Given the description of an element on the screen output the (x, y) to click on. 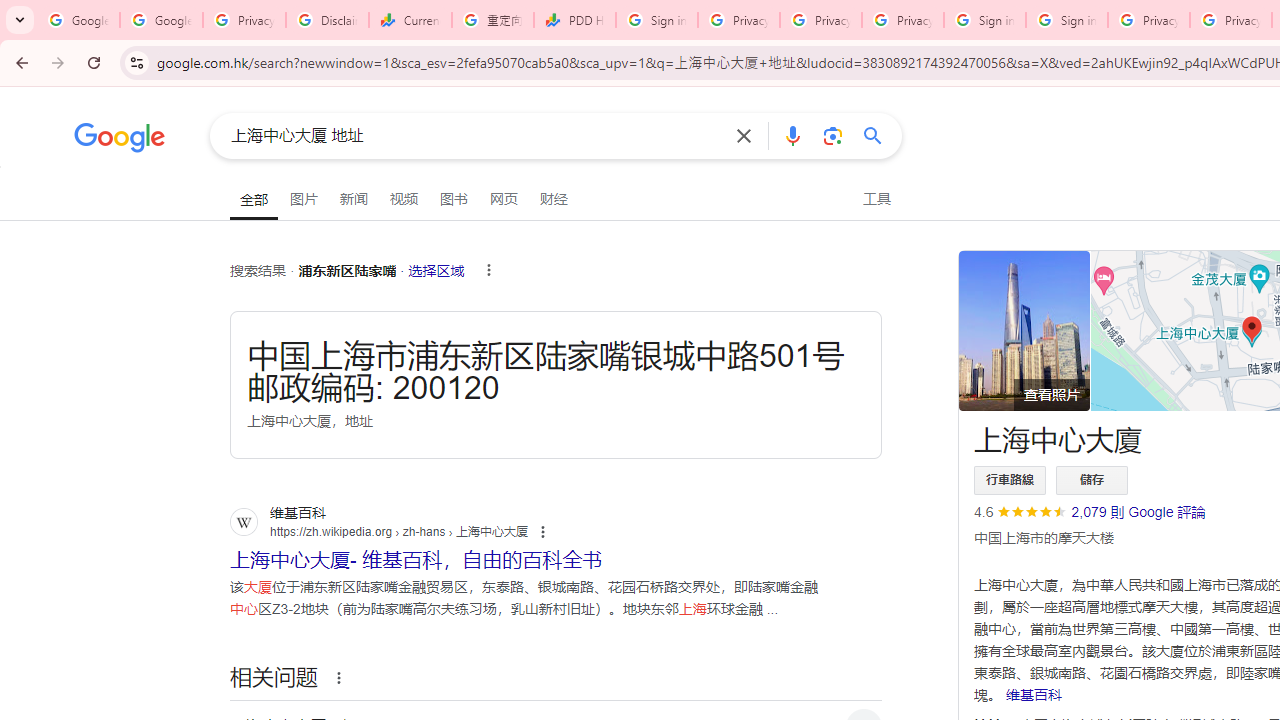
Currencies - Google Finance (409, 20)
Google Workspace Admin Community (78, 20)
Sign in - Google Accounts (1067, 20)
